Given the description of an element on the screen output the (x, y) to click on. 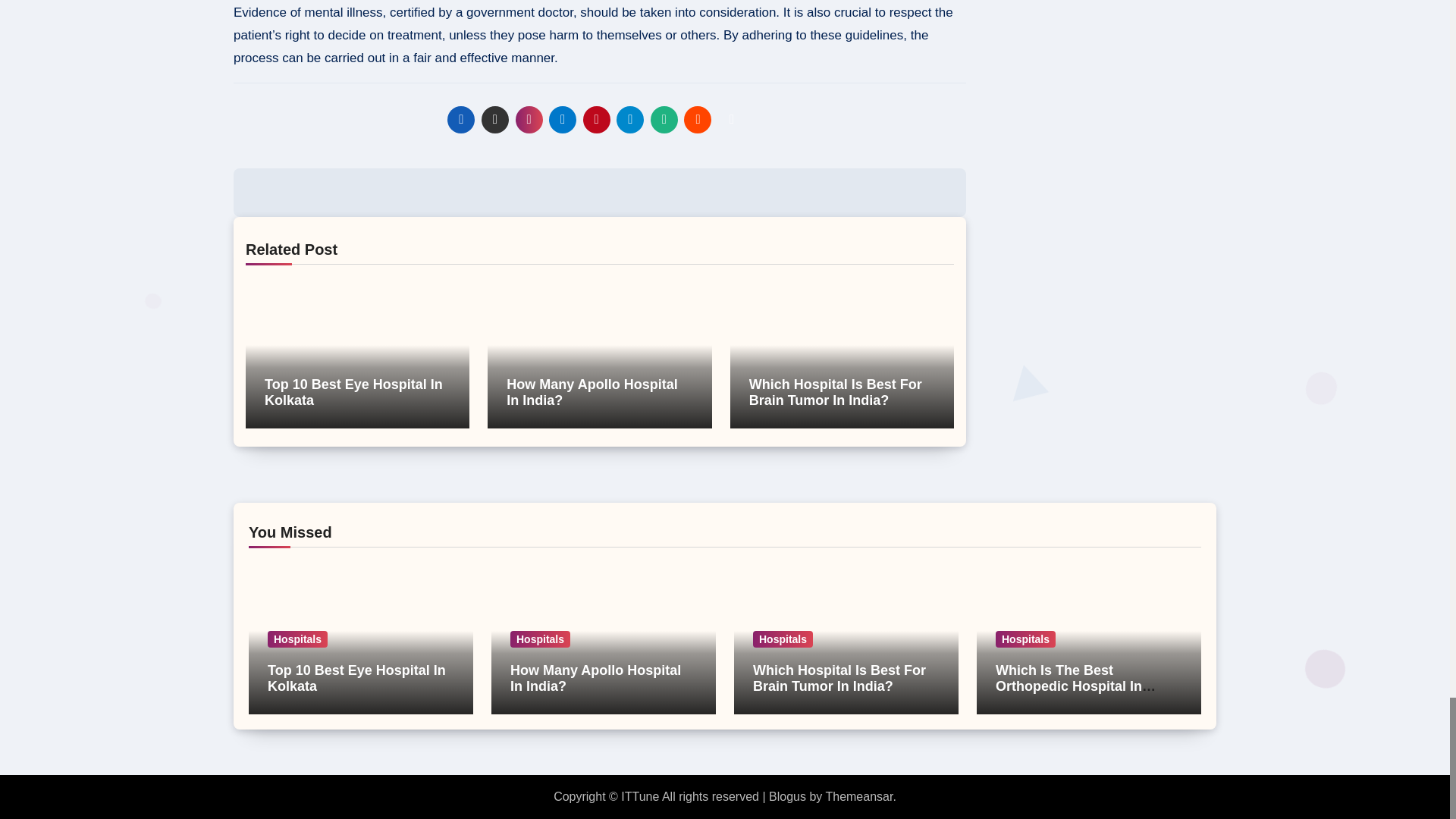
Permalink to: How Many Apollo Hospital In India? (591, 392)
Permalink to: Top 10 Best Eye Hospital In Kolkata (353, 392)
Top 10 Best Eye Hospital In Kolkata (353, 392)
How Many Apollo Hospital In India? (591, 392)
Which Hospital Is Best For Brain Tumor In India? (835, 392)
